Given the description of an element on the screen output the (x, y) to click on. 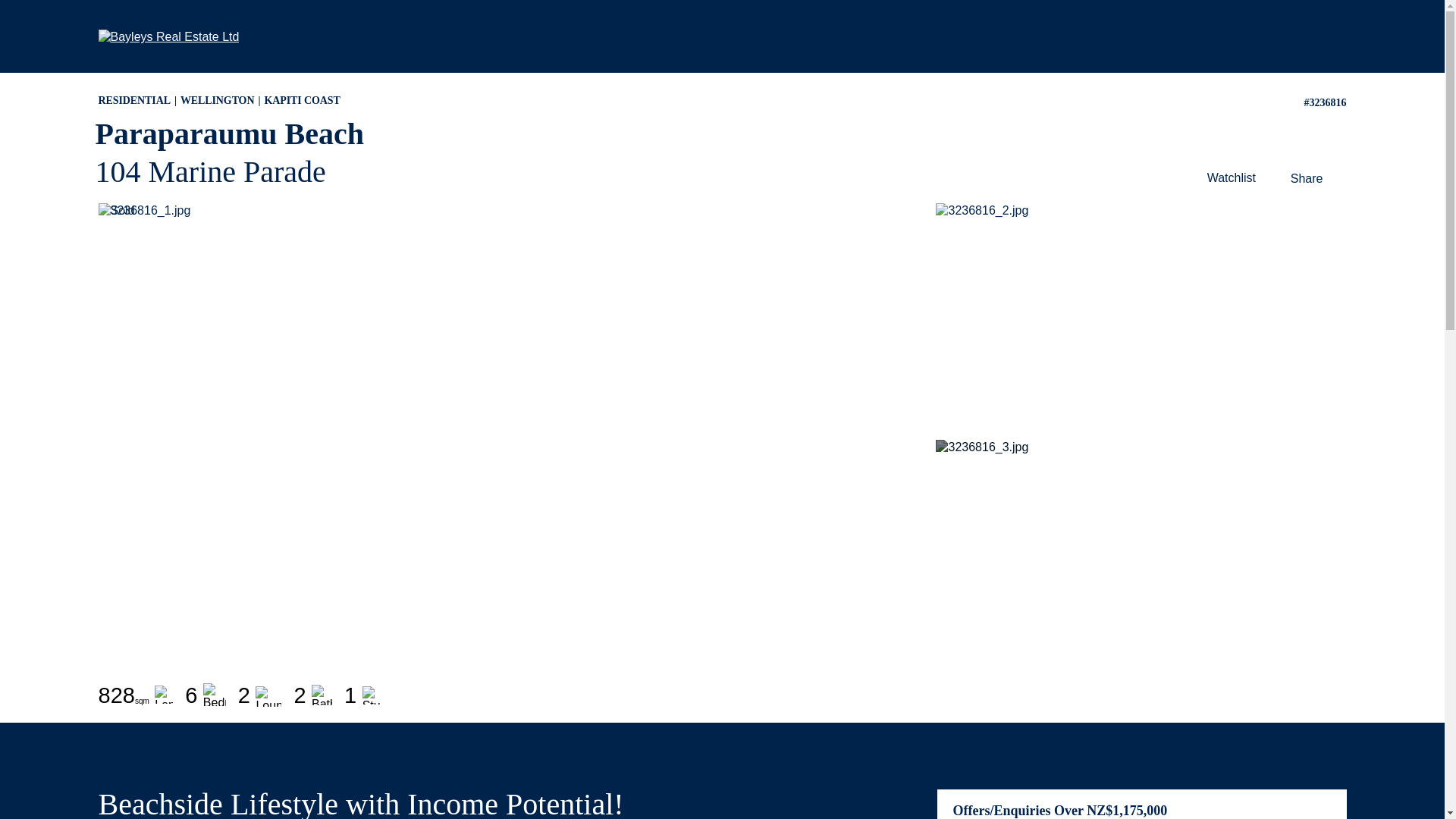
KAPITI COAST (301, 100)
RESIDENTIAL (139, 100)
WELLINGTON (222, 100)
